Given the description of an element on the screen output the (x, y) to click on. 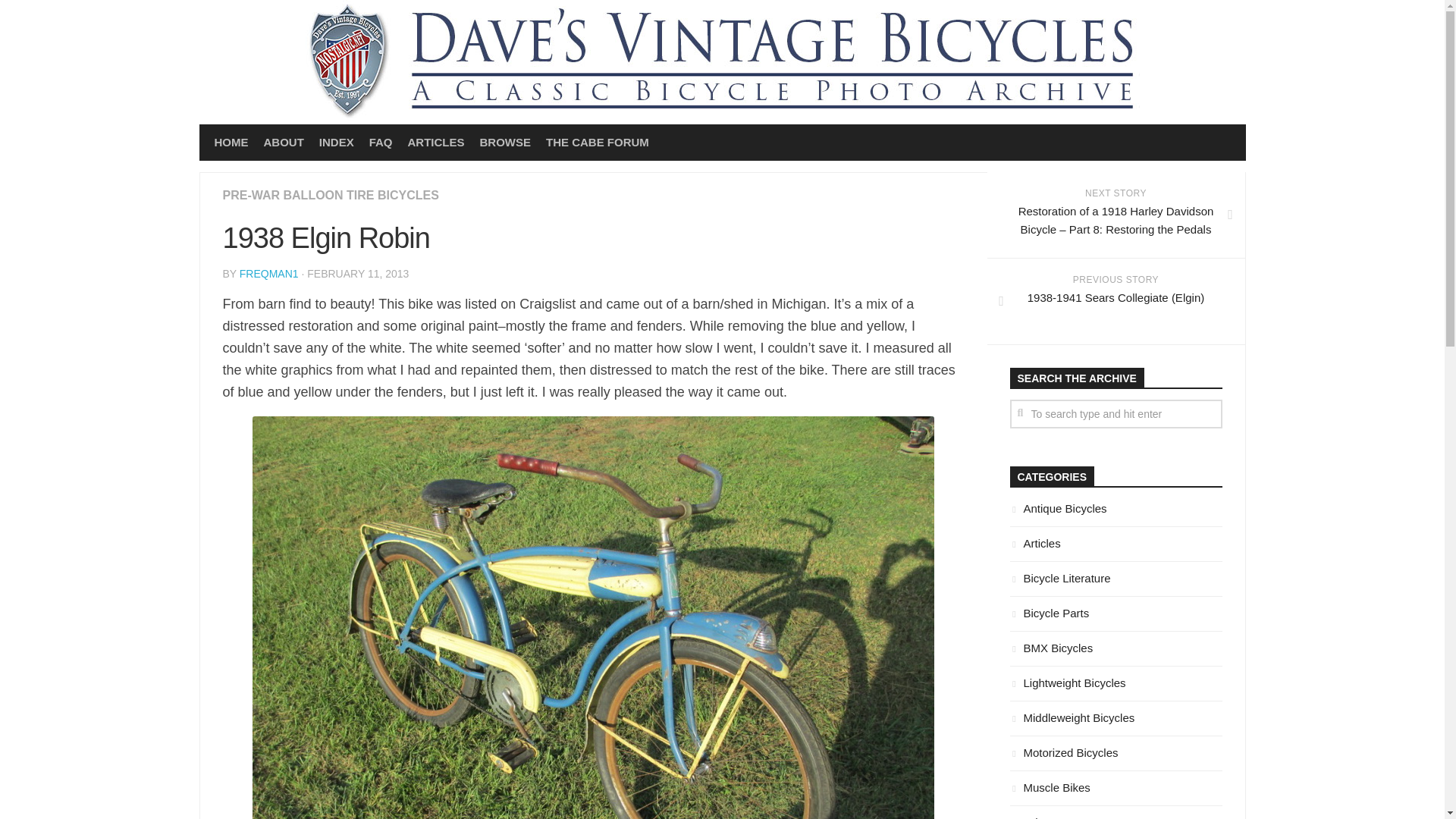
Lightweight Bicycles (1067, 682)
To search type and hit enter (1116, 413)
BROWSE (505, 142)
PRE-WAR BALLOON TIRE BICYCLES (330, 195)
Antique Bicycles (1058, 508)
ABOUT (283, 142)
Motorized Bicycles (1064, 752)
HOME (230, 142)
FAQ (381, 142)
Bicycle Parts (1049, 612)
